Given the description of an element on the screen output the (x, y) to click on. 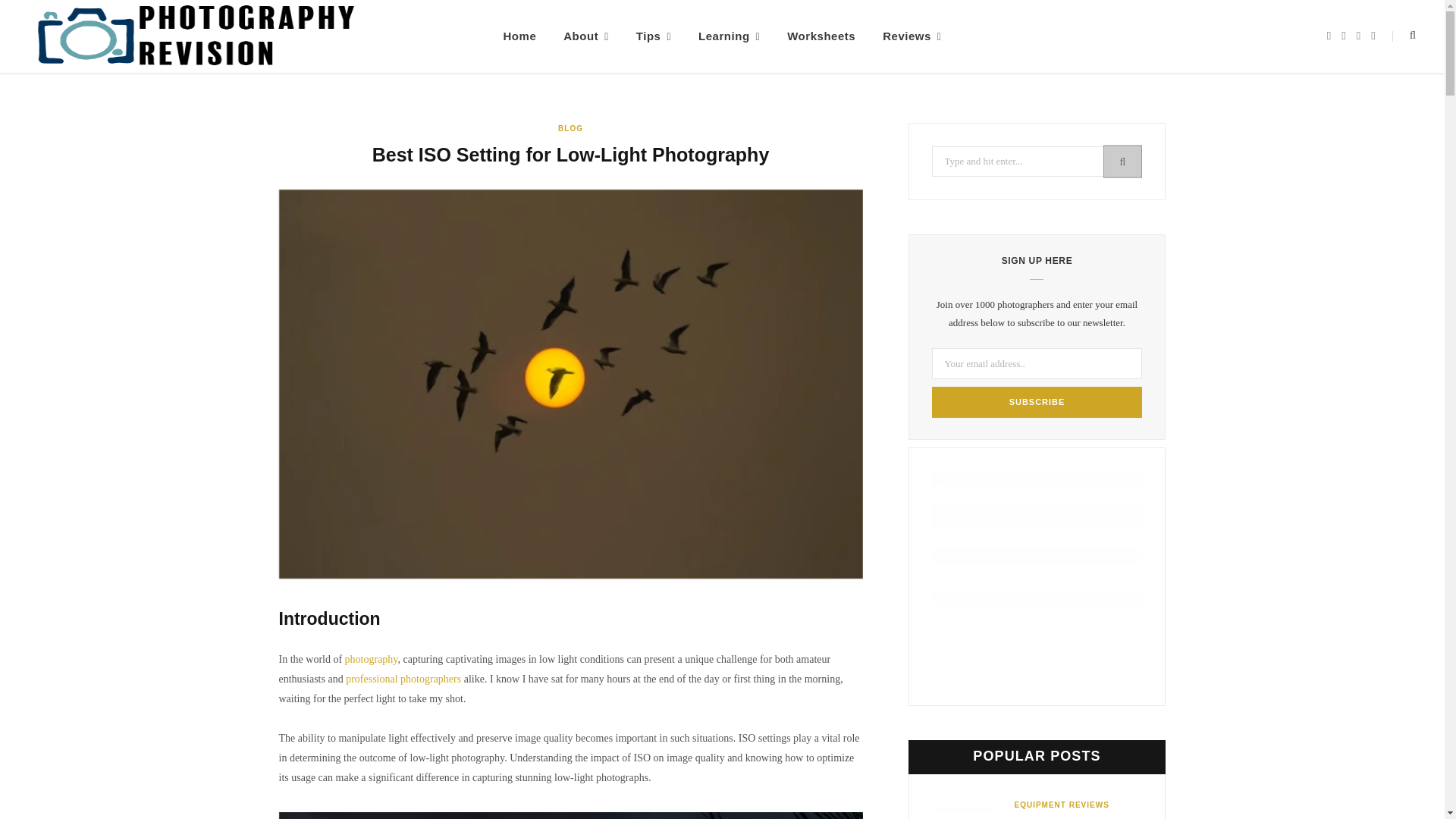
Worksheets (821, 36)
photography (371, 659)
BLOG (570, 128)
professional photographers (403, 678)
Photography Revision (195, 36)
Learning (728, 36)
Subscribe (1036, 401)
About (586, 36)
Reviews (912, 36)
